Given the description of an element on the screen output the (x, y) to click on. 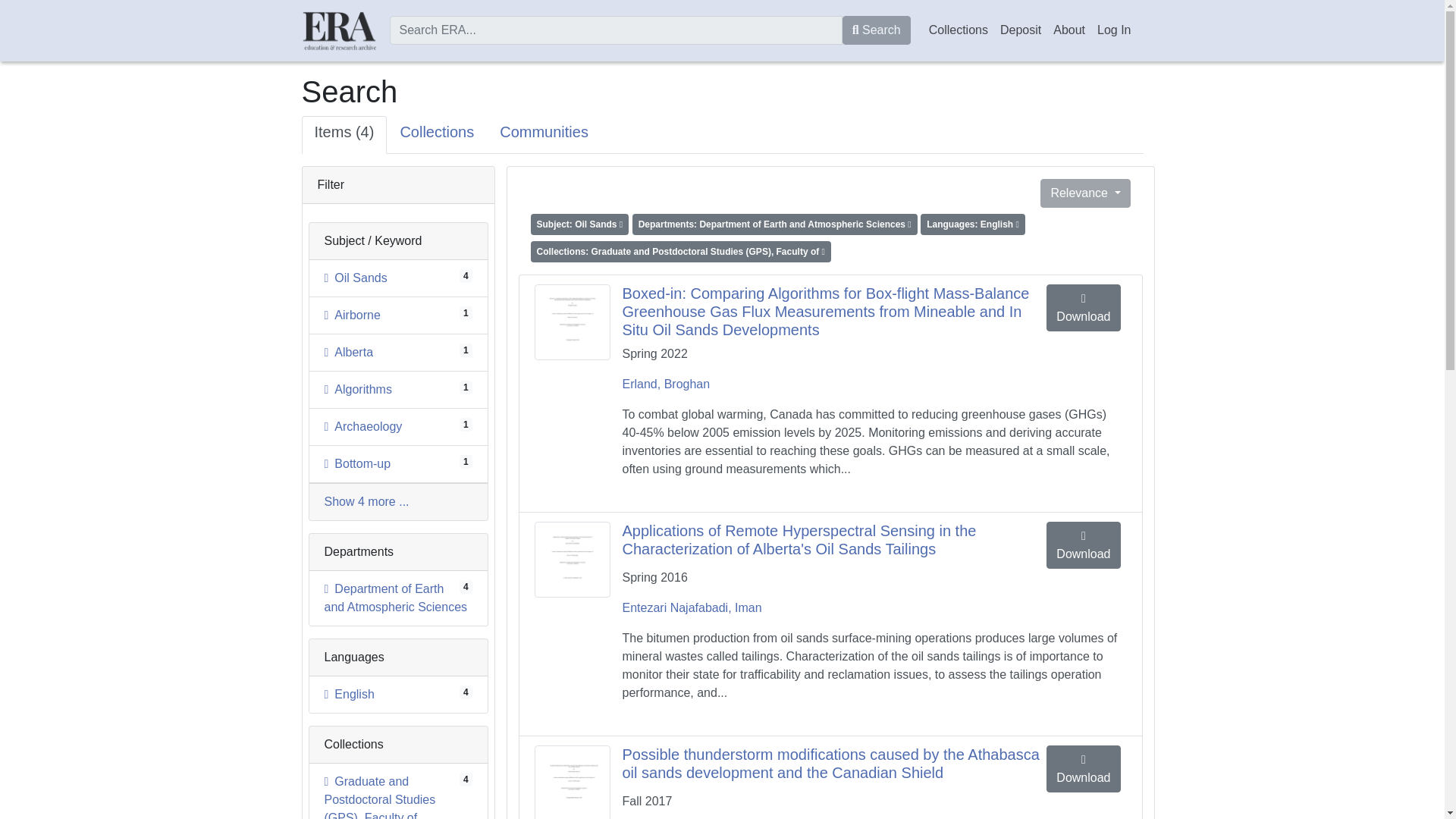
Show 4 more ... (349, 351)
Log In (366, 501)
Skip to Search Results (1113, 30)
Communities (311, 178)
Search (355, 277)
Collections (543, 134)
Collections (877, 30)
Relevance (352, 314)
